Given the description of an element on the screen output the (x, y) to click on. 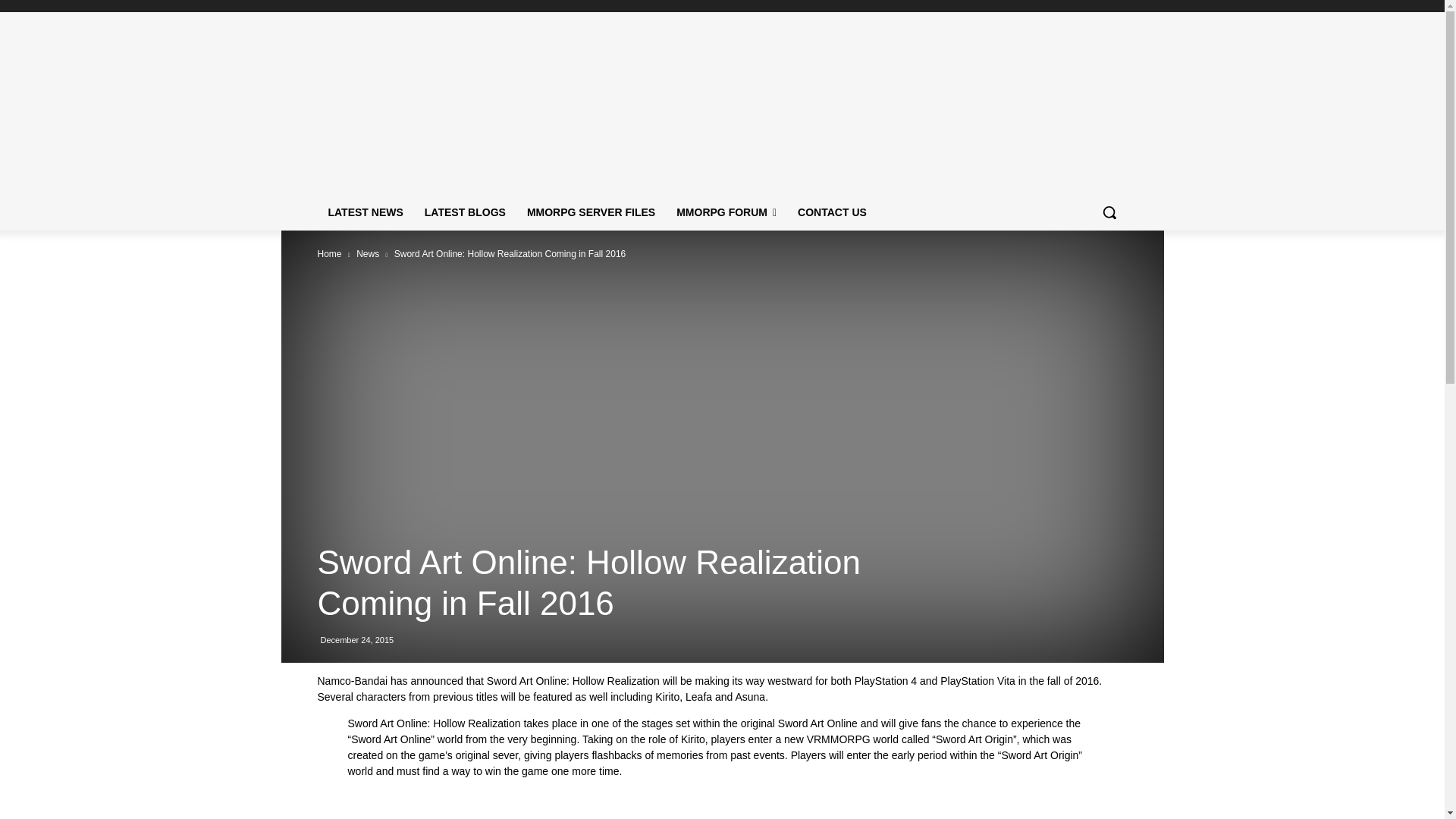
LATEST BLOGS (464, 212)
View all posts in News (367, 253)
MMORPG SERVER FILES (590, 212)
MMORPG FORUM (726, 212)
CONTACT US (832, 212)
LATEST NEWS (365, 212)
Home (328, 253)
News (367, 253)
